Given the description of an element on the screen output the (x, y) to click on. 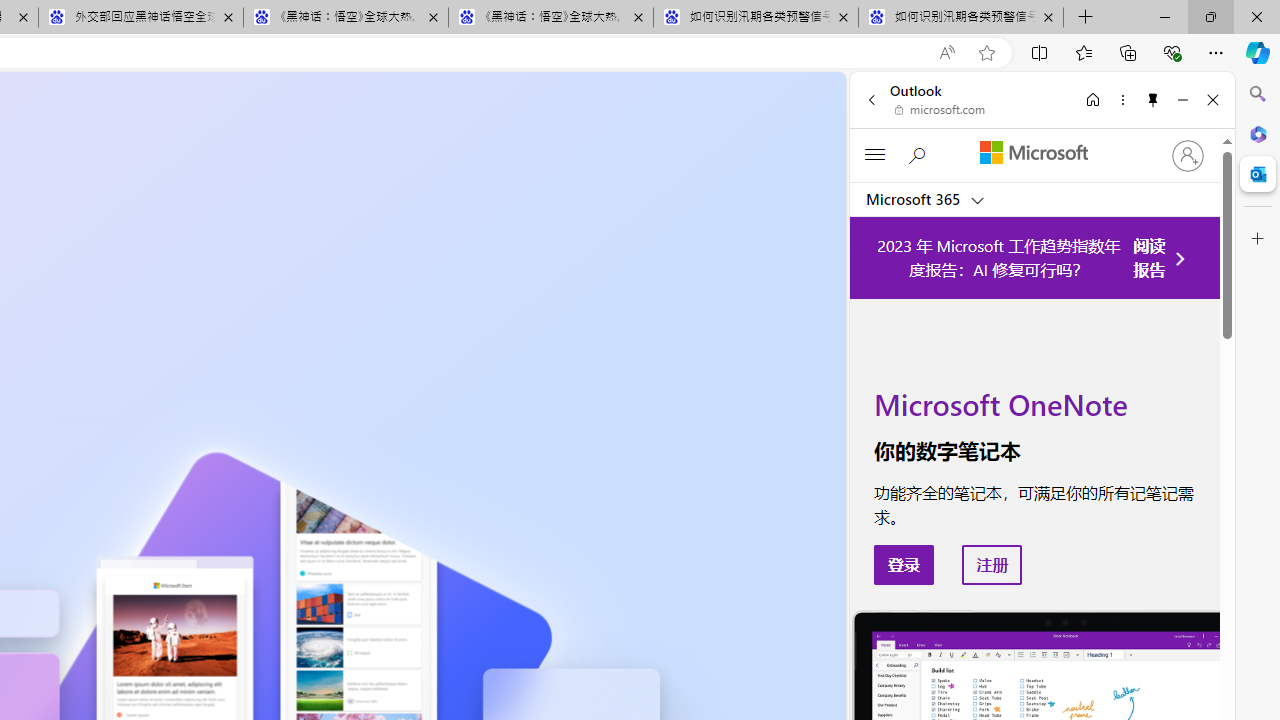
microsoft.com (940, 110)
